Given the description of an element on the screen output the (x, y) to click on. 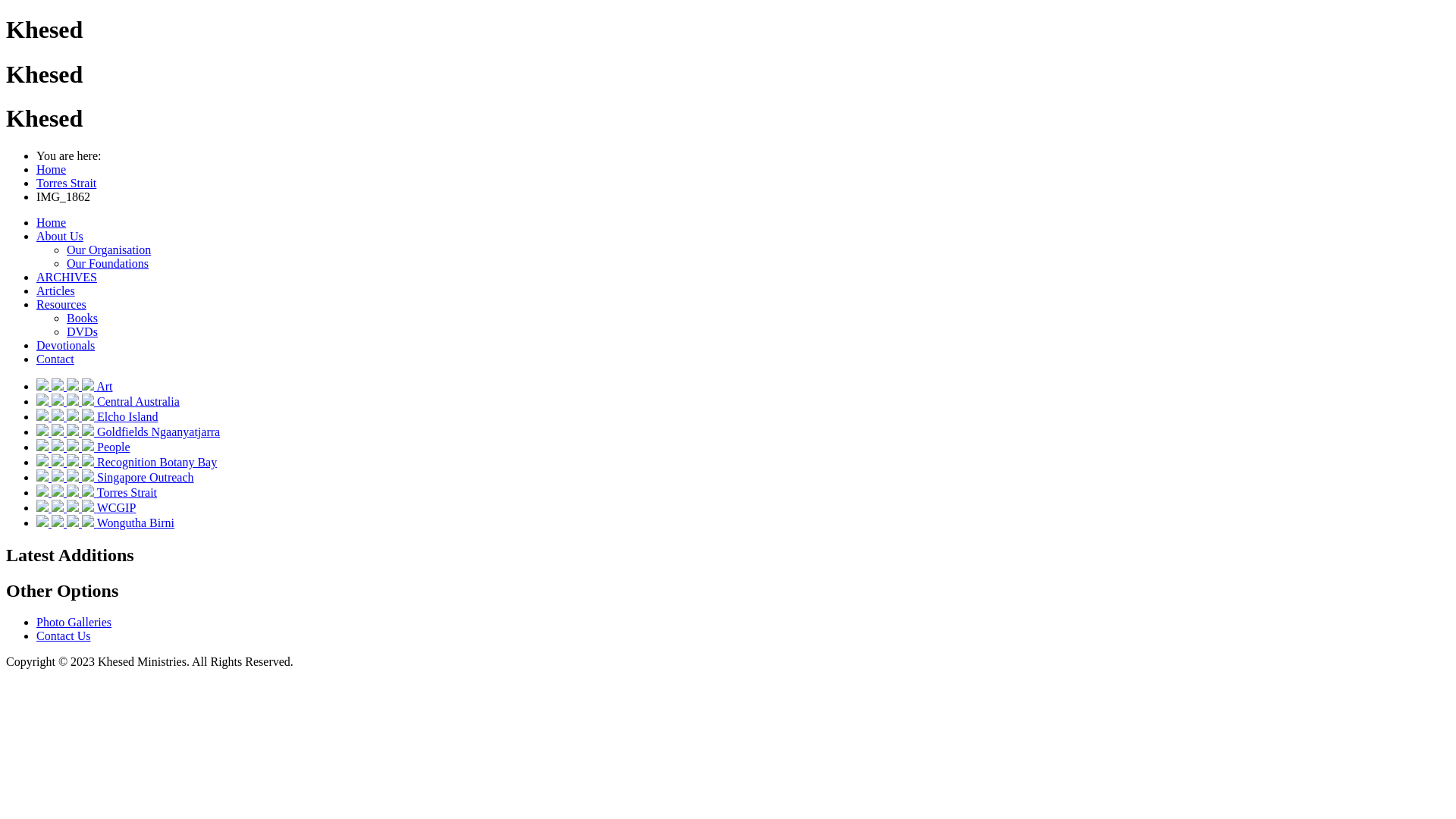
ARCHIVES Element type: text (66, 276)
Wongutha Birni Element type: text (135, 522)
Home Element type: text (50, 169)
Our Foundations Element type: text (107, 263)
Singapore Outreach Element type: text (145, 476)
Goldfields Ngaanyatjarra Element type: text (158, 431)
Art Element type: text (104, 385)
Central Australia Element type: text (138, 401)
Home Element type: text (50, 222)
Resources Element type: text (61, 304)
Elcho Island Element type: text (127, 416)
Photo Galleries Element type: text (73, 621)
Torres Strait Element type: text (66, 182)
Recognition Botany Bay Element type: text (156, 461)
Books Element type: text (81, 317)
Contact Element type: text (55, 358)
Devotionals Element type: text (65, 344)
Articles Element type: text (55, 290)
Our Organisation Element type: text (108, 249)
Torres Strait Element type: text (126, 492)
People Element type: text (113, 446)
WCGIP Element type: text (116, 507)
About Us Element type: text (59, 235)
DVDs Element type: text (81, 331)
Contact Us Element type: text (63, 635)
